Given the description of an element on the screen output the (x, y) to click on. 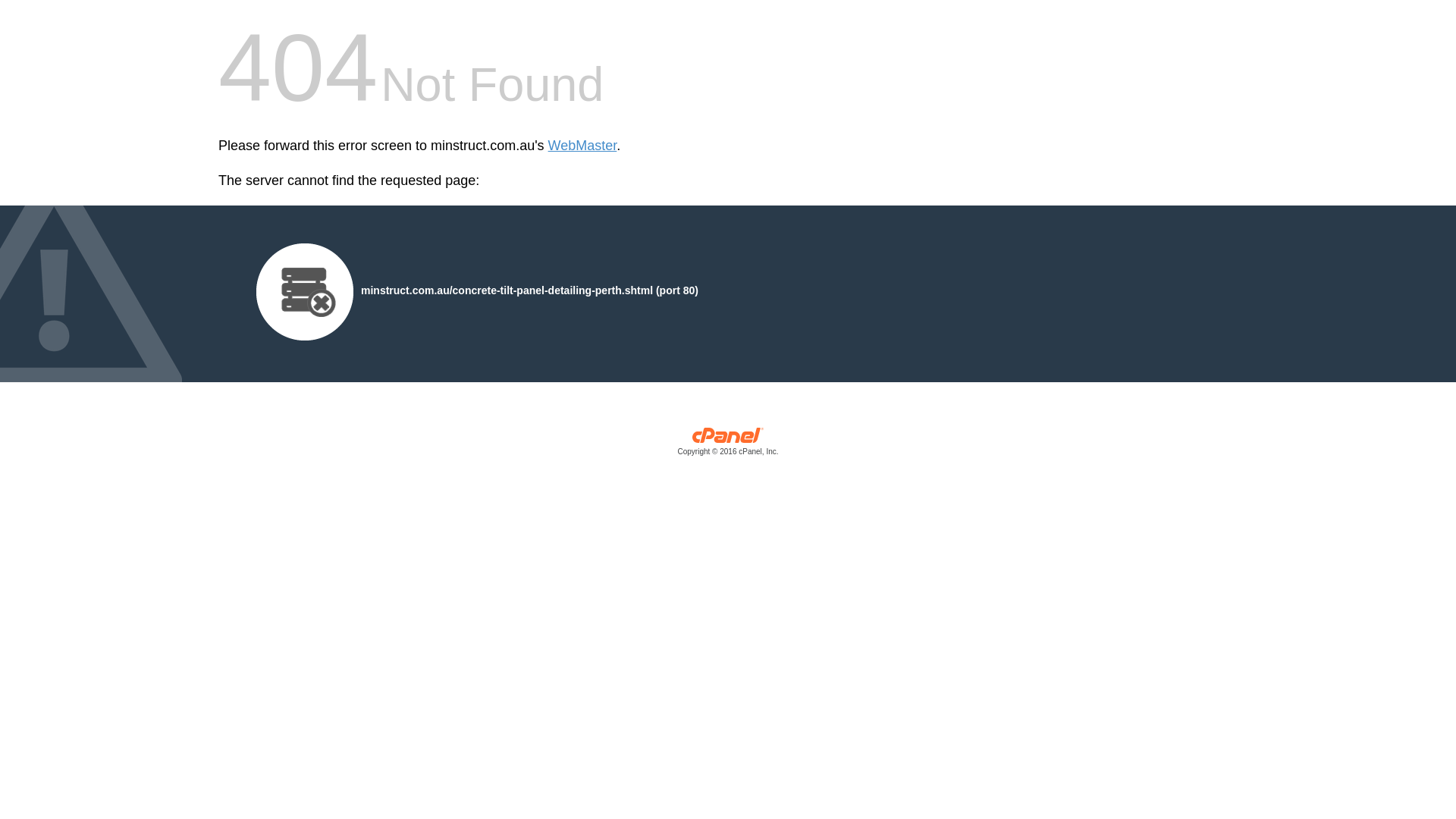
WebMaster Element type: text (582, 145)
